Given the description of an element on the screen output the (x, y) to click on. 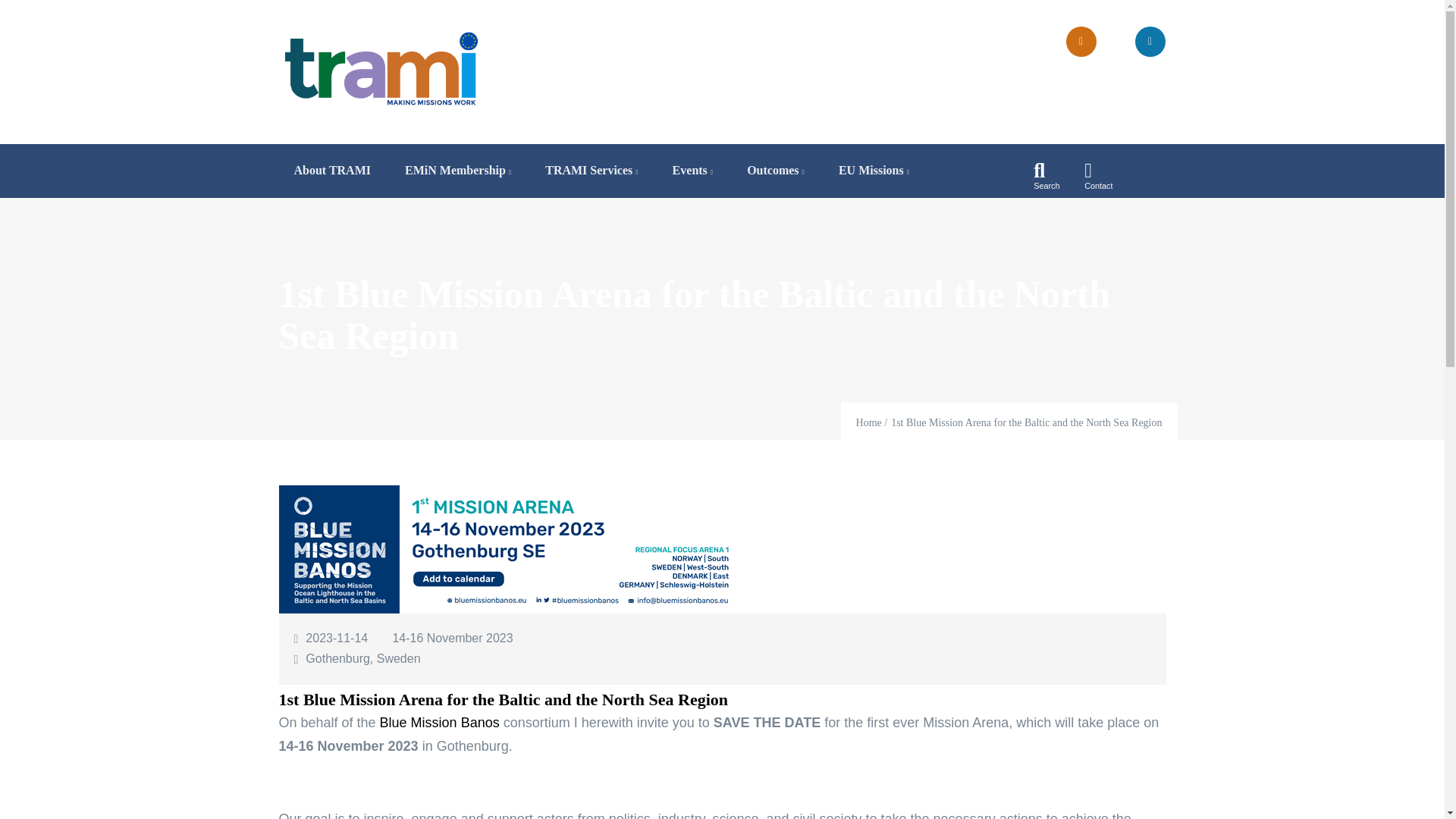
Blue Mission Banos (439, 722)
About TRAMI (333, 171)
EU Missions (874, 171)
EMiN Membership (457, 171)
Outcomes (775, 171)
Home (381, 68)
Events (693, 171)
TRAMI Services (590, 171)
Home (869, 422)
